Given the description of an element on the screen output the (x, y) to click on. 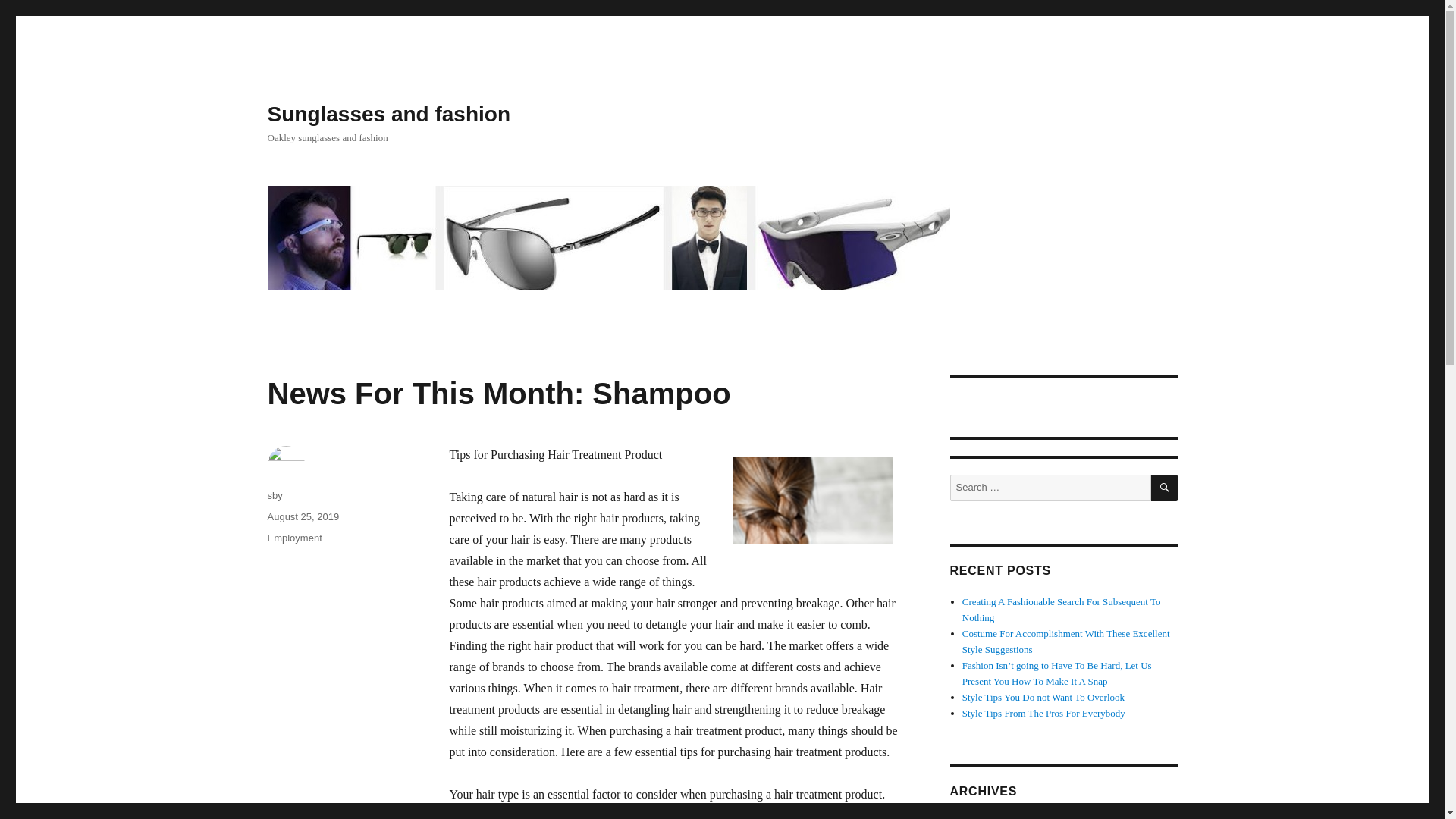
Style Tips From The Pros For Everybody (1043, 713)
Creating A Fashionable Search For Subsequent To Nothing (1061, 609)
August 25, 2019 (302, 516)
December 2015 (993, 817)
Style Tips You Do not Want To Overlook (1043, 696)
Employment (293, 537)
Sunglasses and fashion (388, 114)
SEARCH (1164, 488)
sby (274, 495)
